Given the description of an element on the screen output the (x, y) to click on. 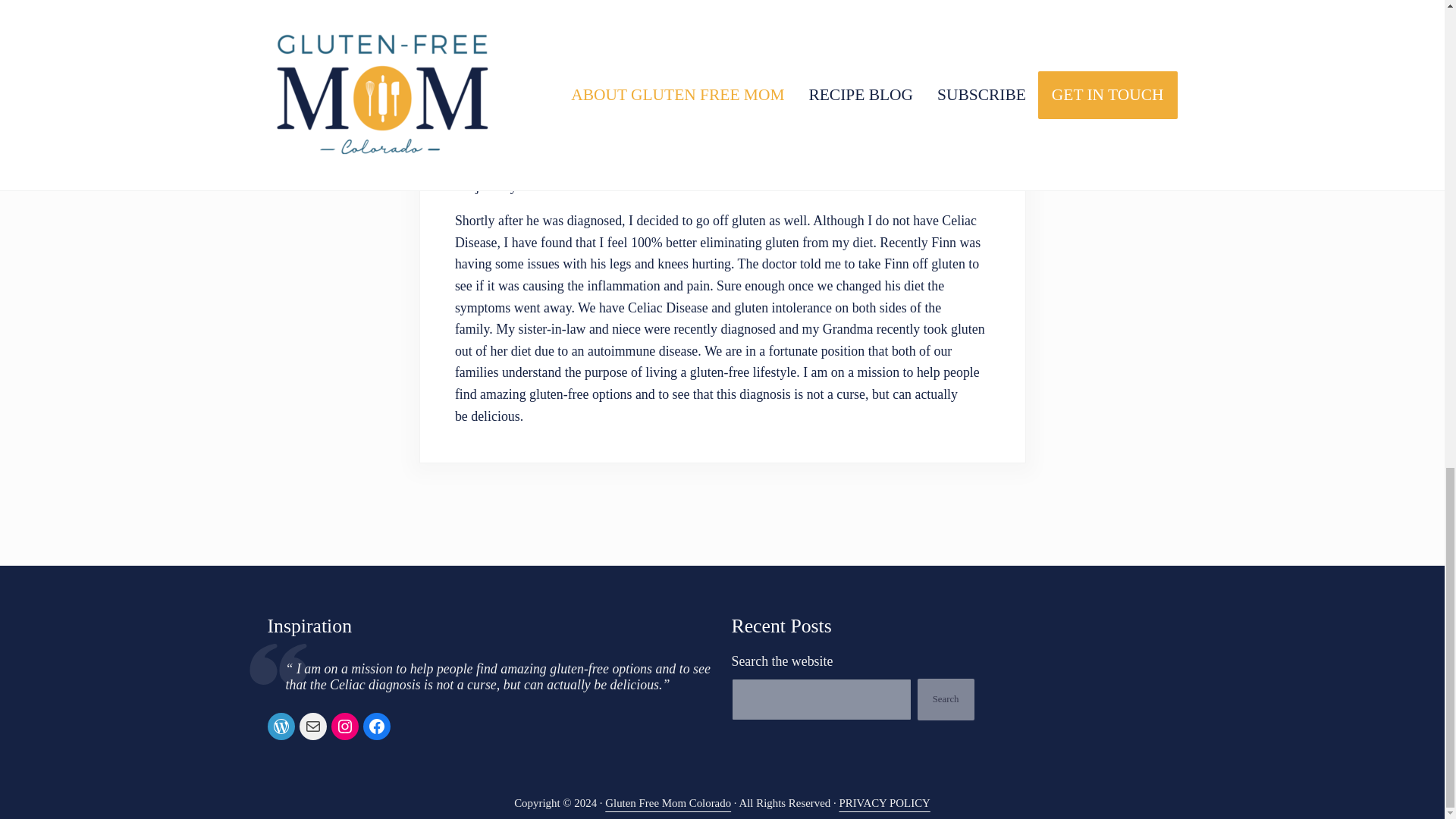
PRIVACY POLICY (884, 802)
Instagram (344, 726)
Gluten Free Mom Colorado (667, 802)
WordPress (280, 726)
Facebook (376, 726)
Mail (312, 726)
Search (945, 699)
